Given the description of an element on the screen output the (x, y) to click on. 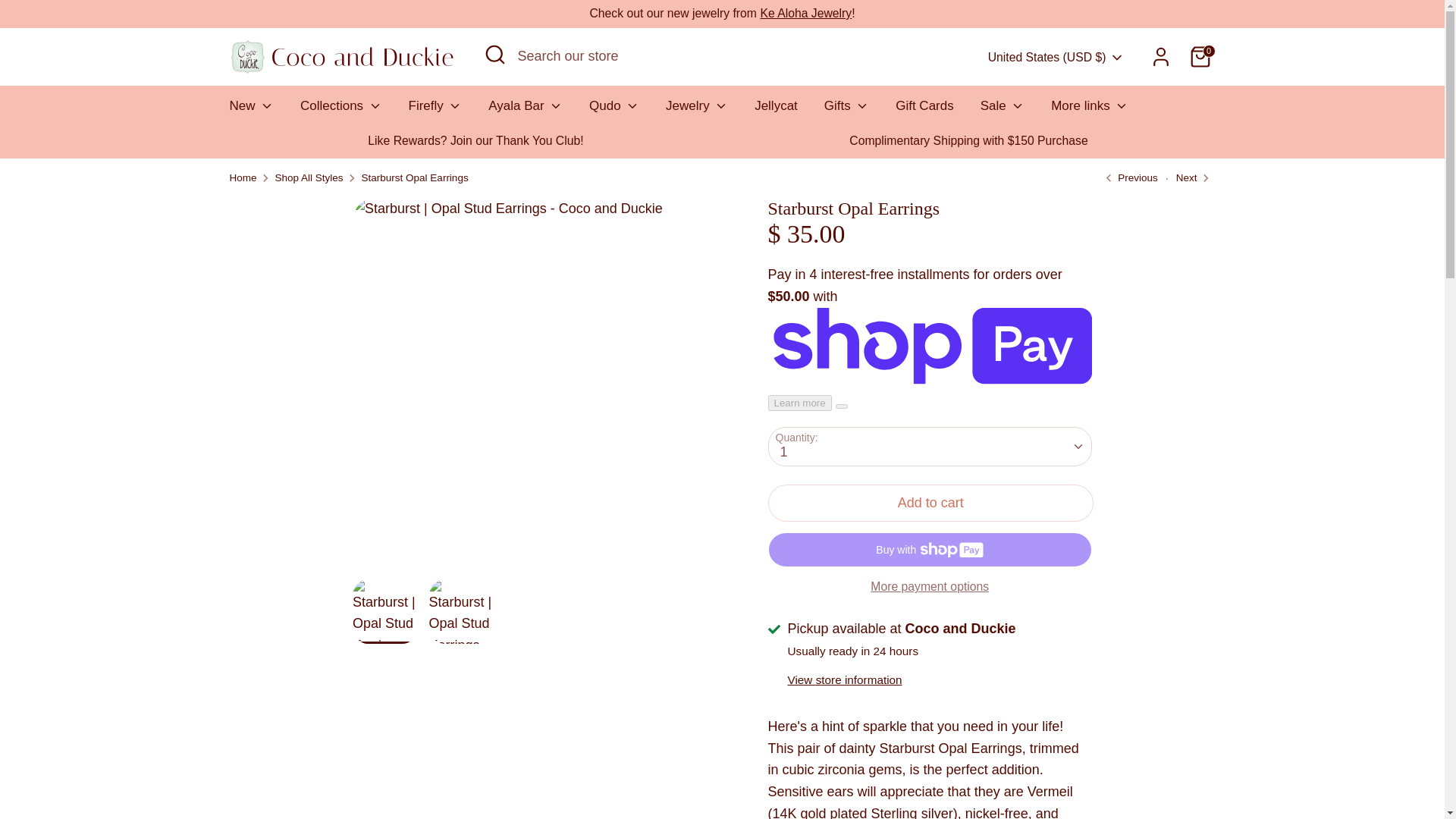
Add to cart (930, 502)
Ke Aloha Jewelry (805, 12)
Blue Morpho Kaleidoscope Butterfly Earrings (1128, 177)
Ke Aloha Jewelry (805, 12)
Rainbow Pearl Necklace (1186, 177)
